Given the description of an element on the screen output the (x, y) to click on. 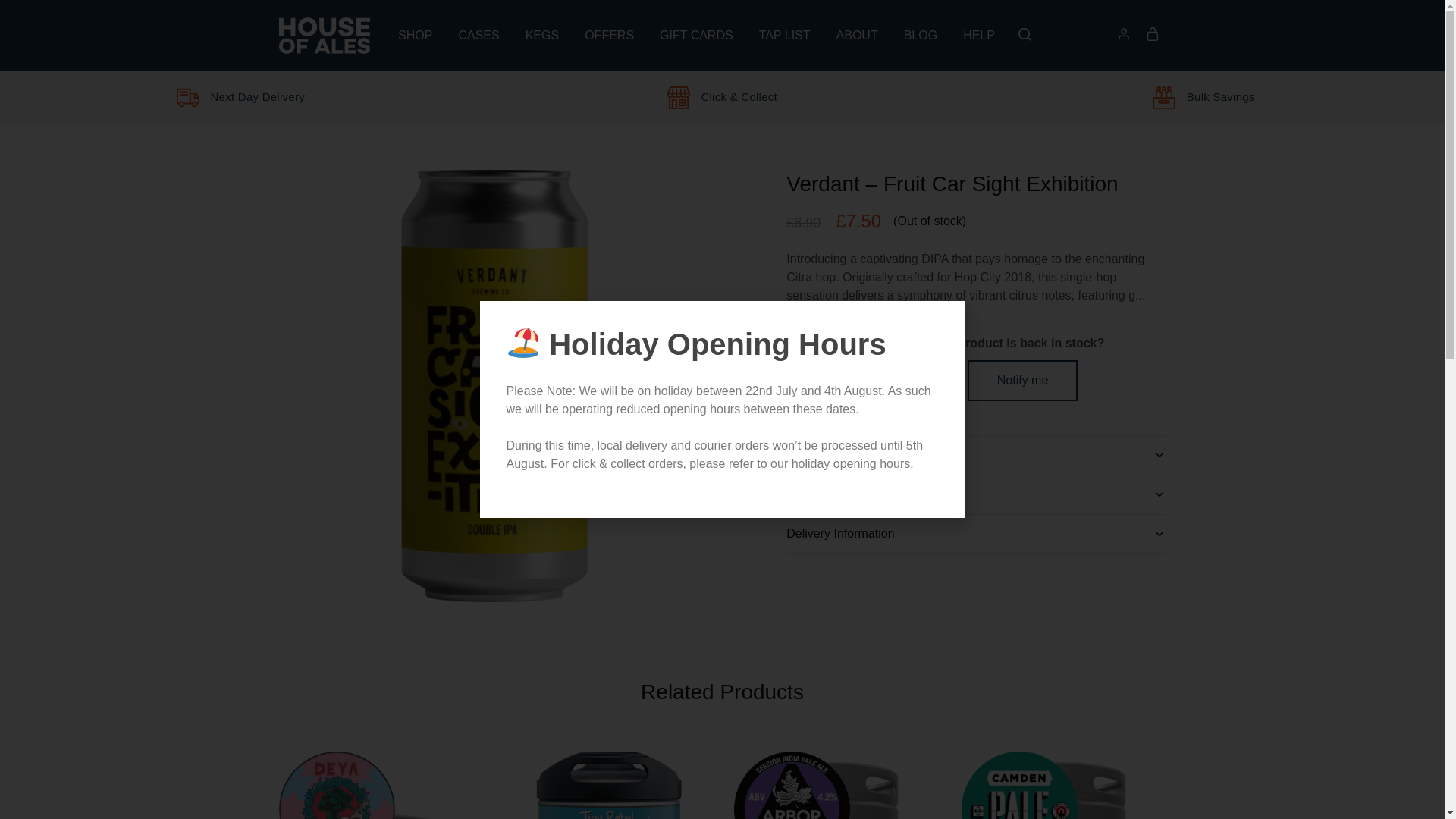
CASES (477, 35)
GIFT CARDS (696, 35)
SHOP (414, 35)
HELP (978, 35)
ABOUT (857, 35)
TAP LIST (784, 35)
OFFERS (609, 35)
BLOG (920, 35)
KEGS (541, 35)
